Given the description of an element on the screen output the (x, y) to click on. 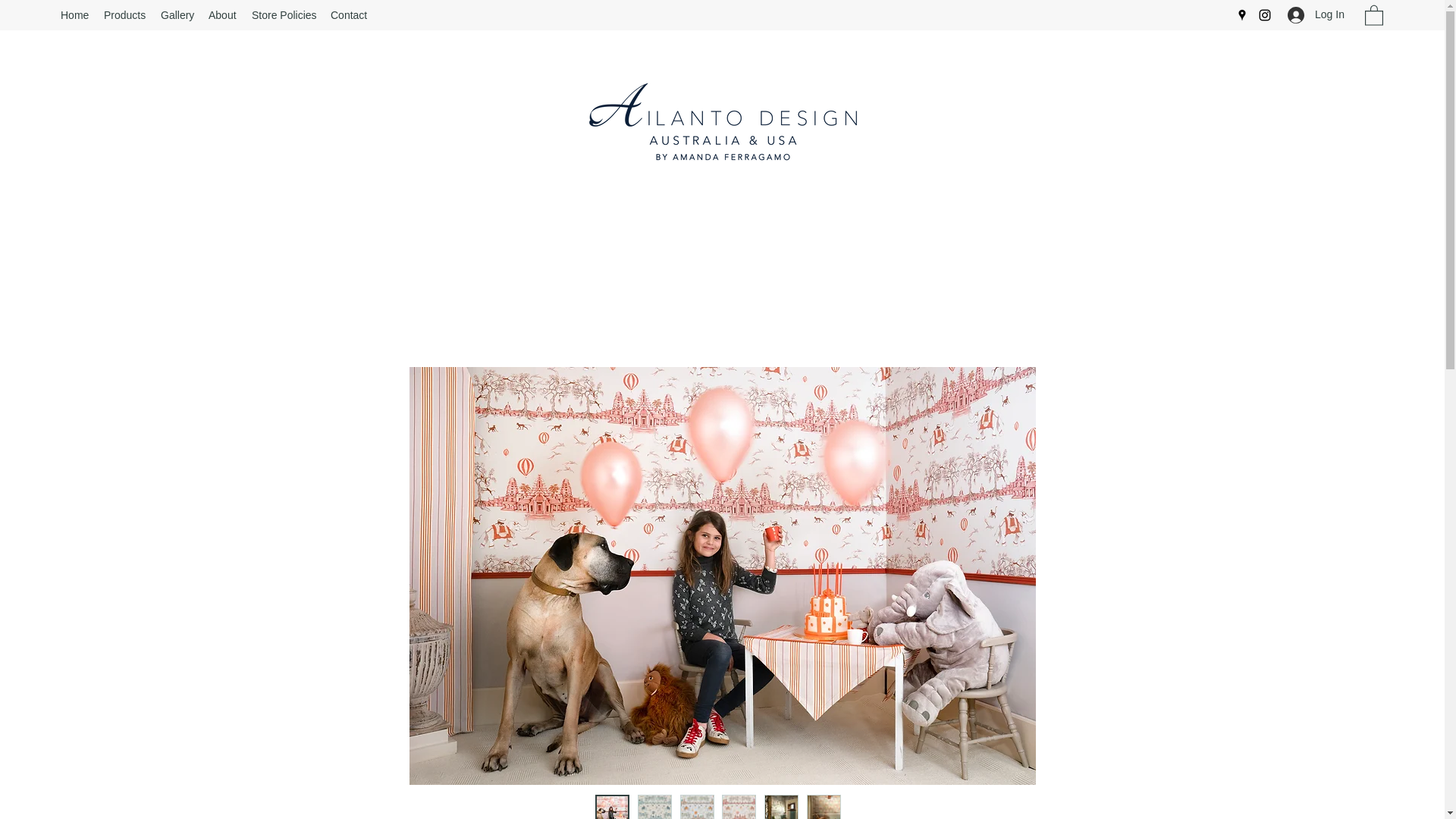
Products (124, 15)
Store Policies (283, 15)
Gallery (176, 15)
Log In (1310, 14)
About (222, 15)
Contact (348, 15)
Home (74, 15)
